Given the description of an element on the screen output the (x, y) to click on. 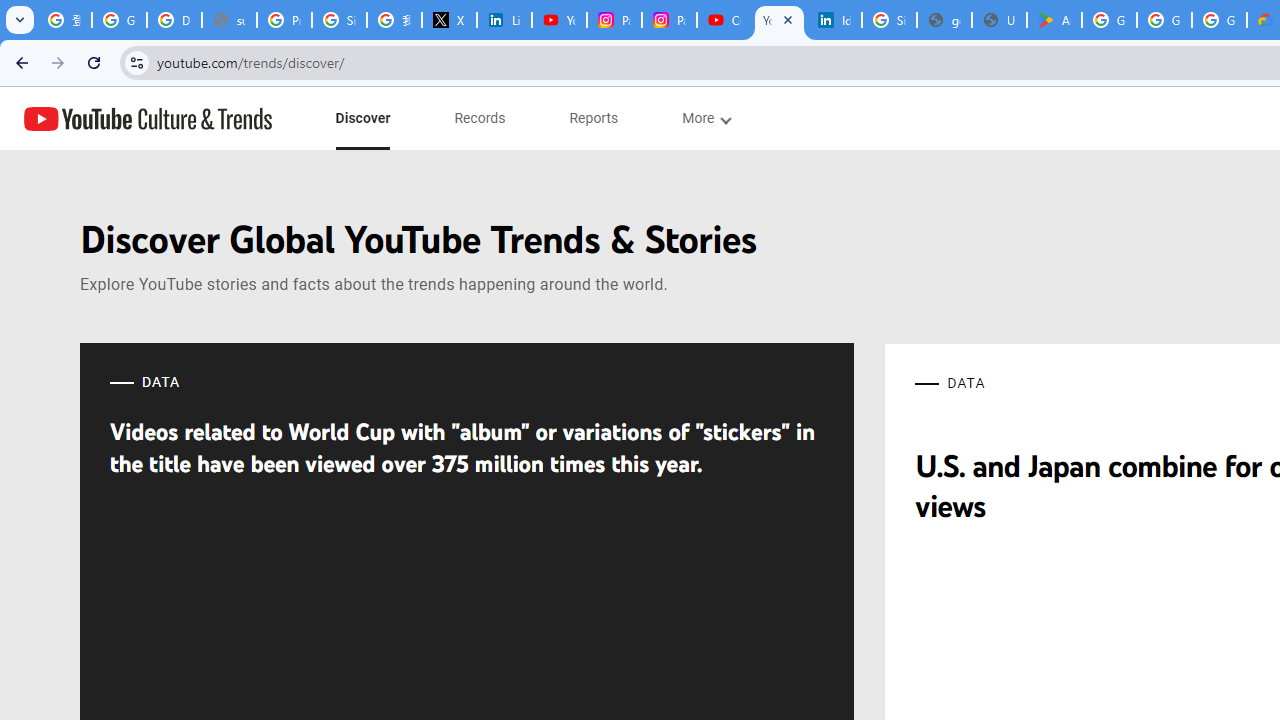
User Details (998, 20)
YouTube Content Monetization Policies - How YouTube Works (559, 20)
subnav-More menupopup (706, 118)
subnav-Records menupopup (479, 118)
Google Workspace - Specific Terms (1218, 20)
